Given the description of an element on the screen output the (x, y) to click on. 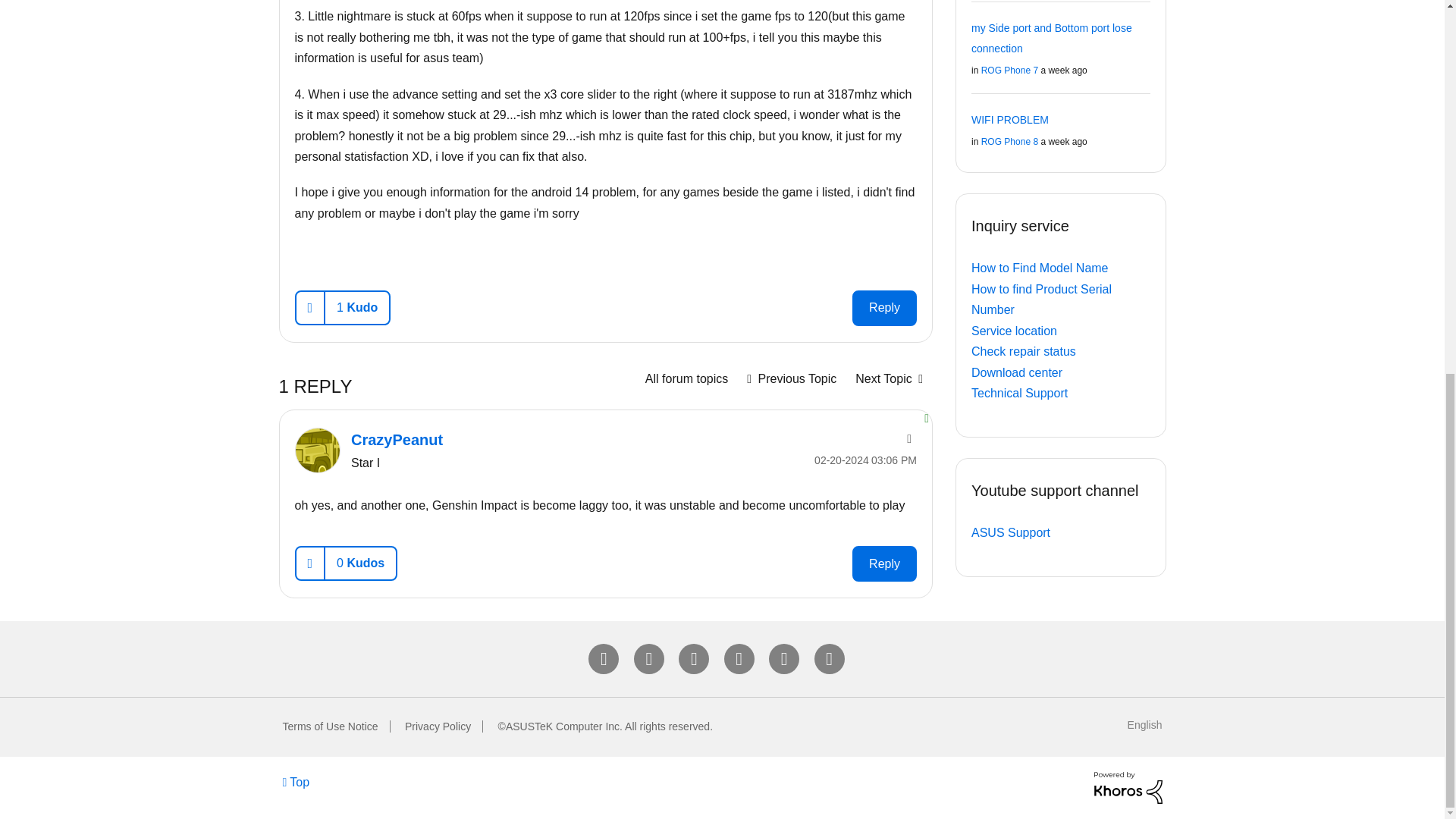
Top (295, 781)
Click here to give kudos to this post. (309, 307)
Android 14 GPS mocking issue (790, 378)
ROG Phone 7 (686, 378)
Top (295, 781)
Click here to see who gave kudos to this post. (356, 307)
